Given the description of an element on the screen output the (x, y) to click on. 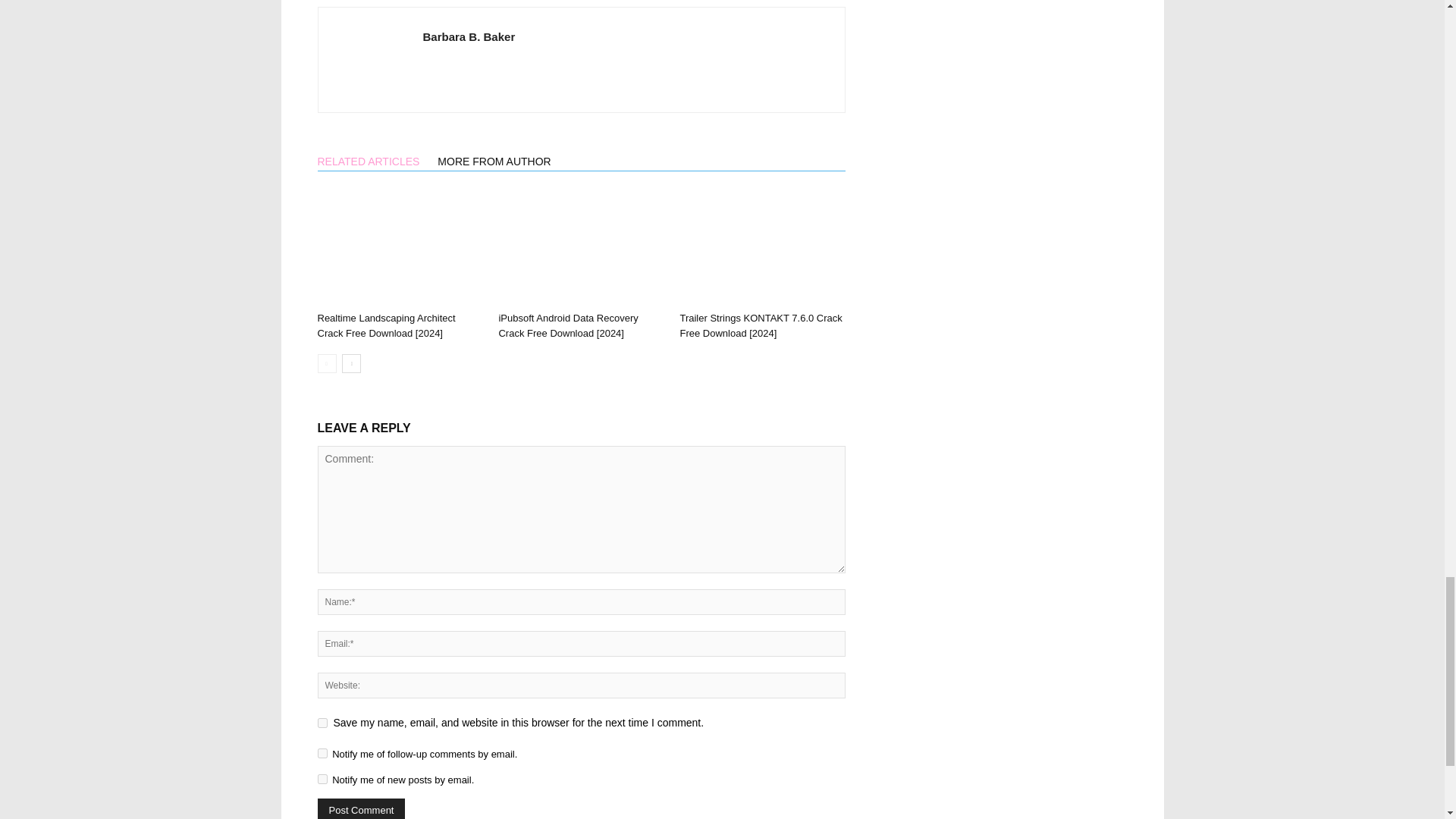
yes (321, 723)
subscribe (321, 778)
Post Comment (360, 808)
subscribe (321, 753)
